Given the description of an element on the screen output the (x, y) to click on. 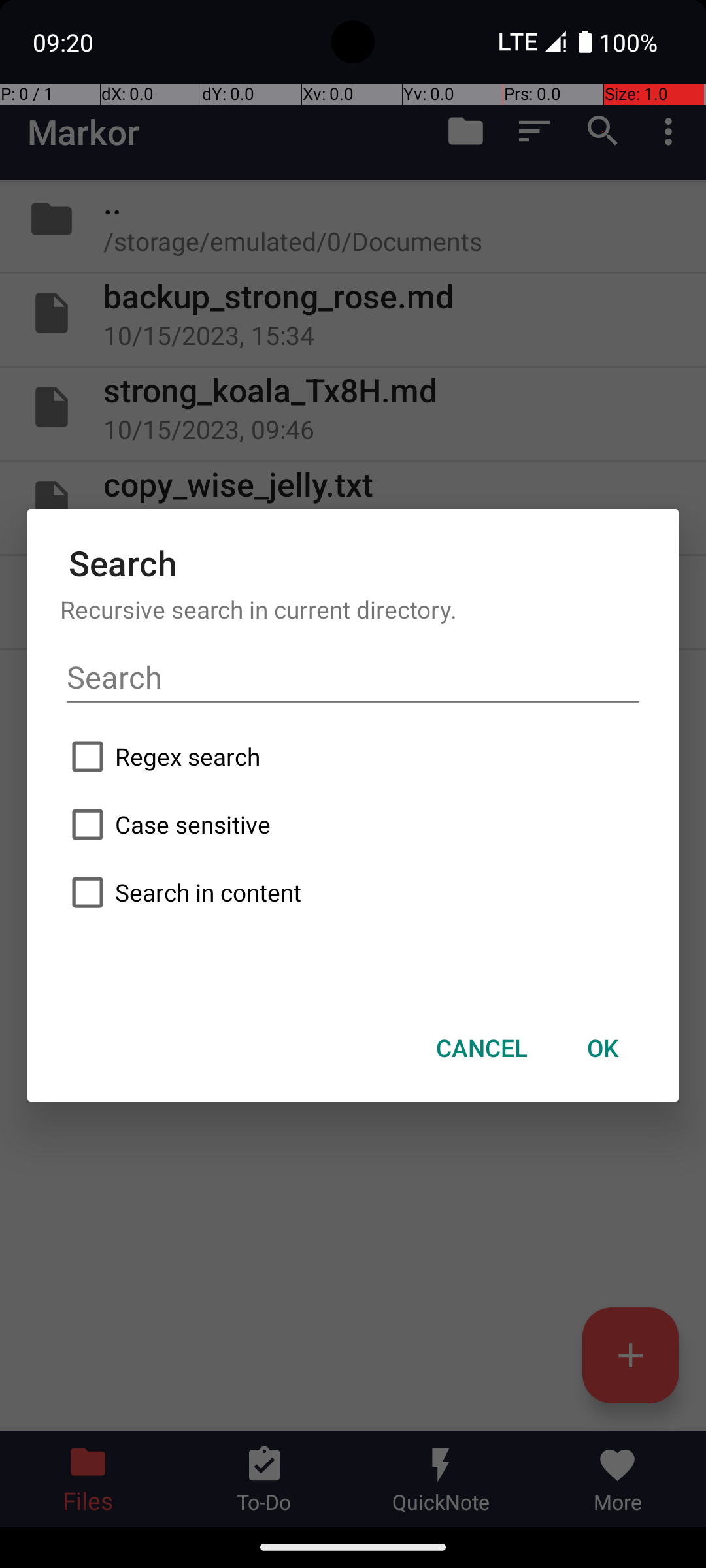
09:20 Element type: android.widget.TextView (64, 41)
